Given the description of an element on the screen output the (x, y) to click on. 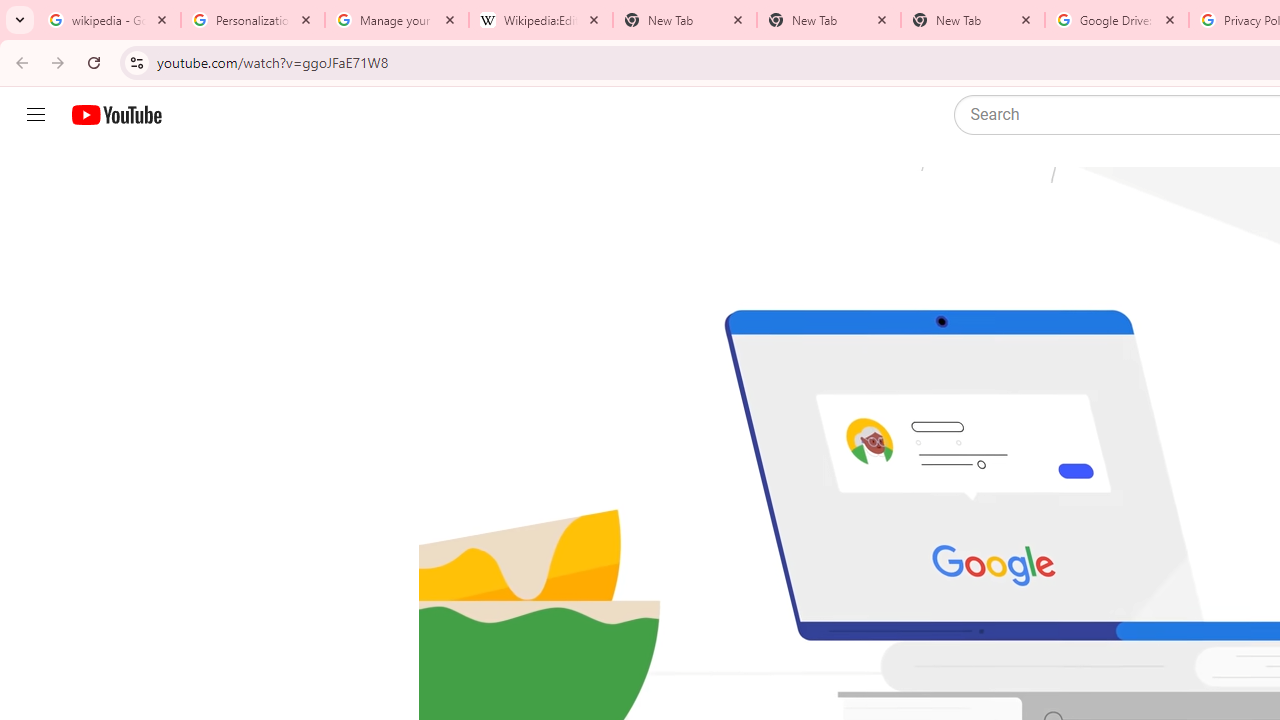
New Tab (972, 20)
